Given the description of an element on the screen output the (x, y) to click on. 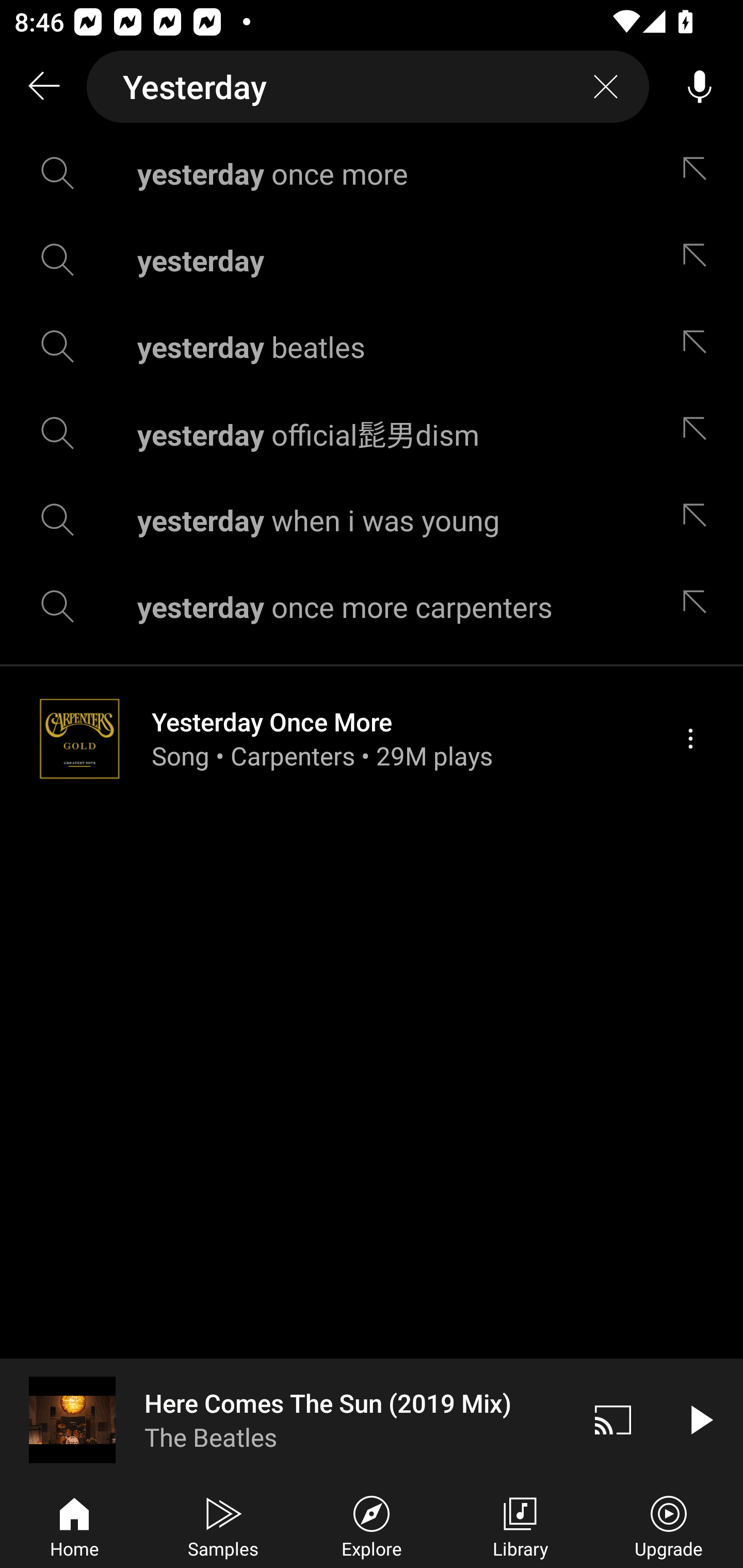
Search back (43, 86)
Yesterday (367, 86)
Clear search (605, 86)
Voice search (699, 86)
Edit suggestion yesterday once more (699, 173)
yesterday Edit suggestion yesterday (371, 259)
Edit suggestion yesterday (699, 259)
Edit suggestion yesterday beatles (699, 346)
Edit suggestion yesterday official髭男dism (699, 433)
Edit suggestion yesterday when i was young (699, 519)
Edit suggestion yesterday once more carpenters (699, 605)
Menu (690, 738)
Here Comes The Sun (2019 Mix) The Beatles (284, 1419)
Cast. Disconnected (612, 1419)
Play video (699, 1419)
